Given the description of an element on the screen output the (x, y) to click on. 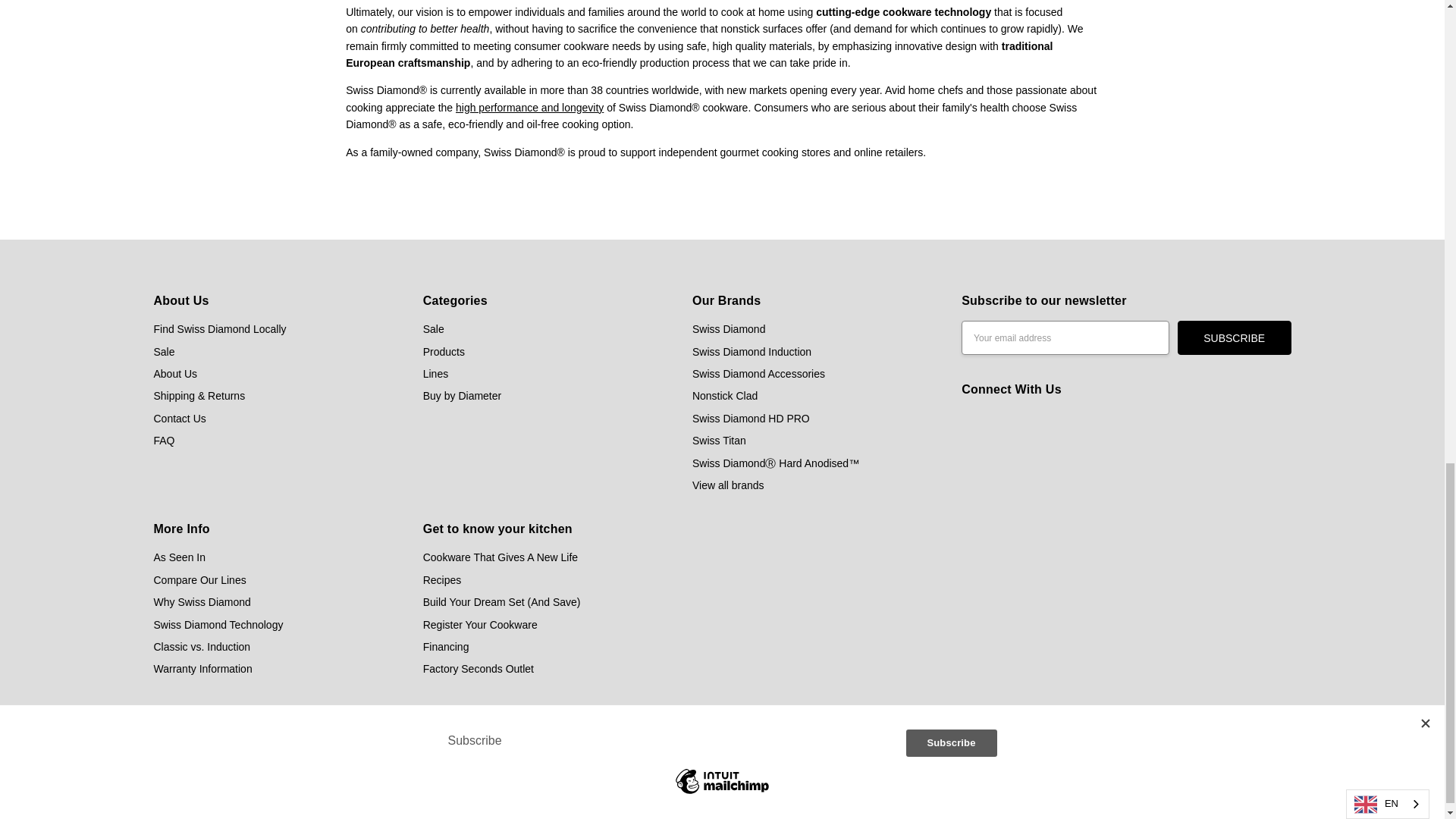
Subscribe (1234, 337)
